Given the description of an element on the screen output the (x, y) to click on. 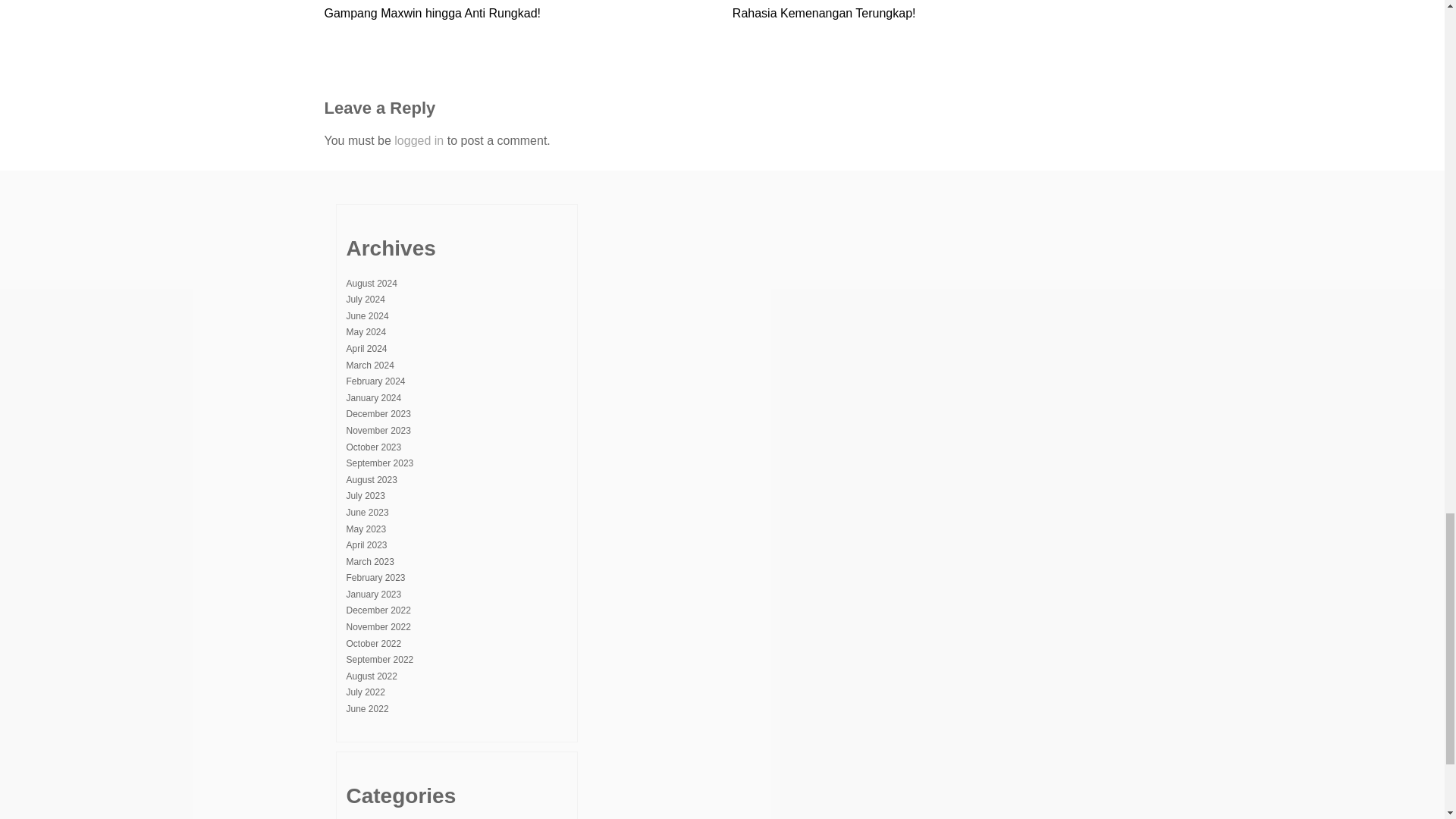
July 2023 (365, 495)
April 2024 (366, 348)
October 2023 (373, 447)
November 2023 (378, 430)
February 2023 (375, 577)
September 2023 (379, 462)
August 2023 (371, 480)
July 2024 (365, 299)
January 2024 (373, 398)
May 2024 (365, 331)
June 2023 (367, 511)
May 2023 (365, 528)
April 2023 (366, 544)
